Given the description of an element on the screen output the (x, y) to click on. 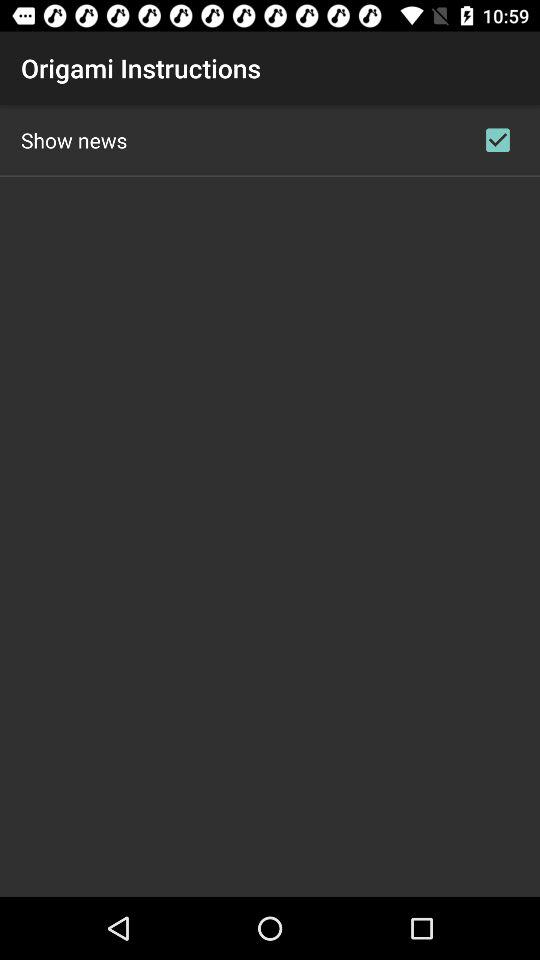
tap item below origami instructions app (74, 139)
